Given the description of an element on the screen output the (x, y) to click on. 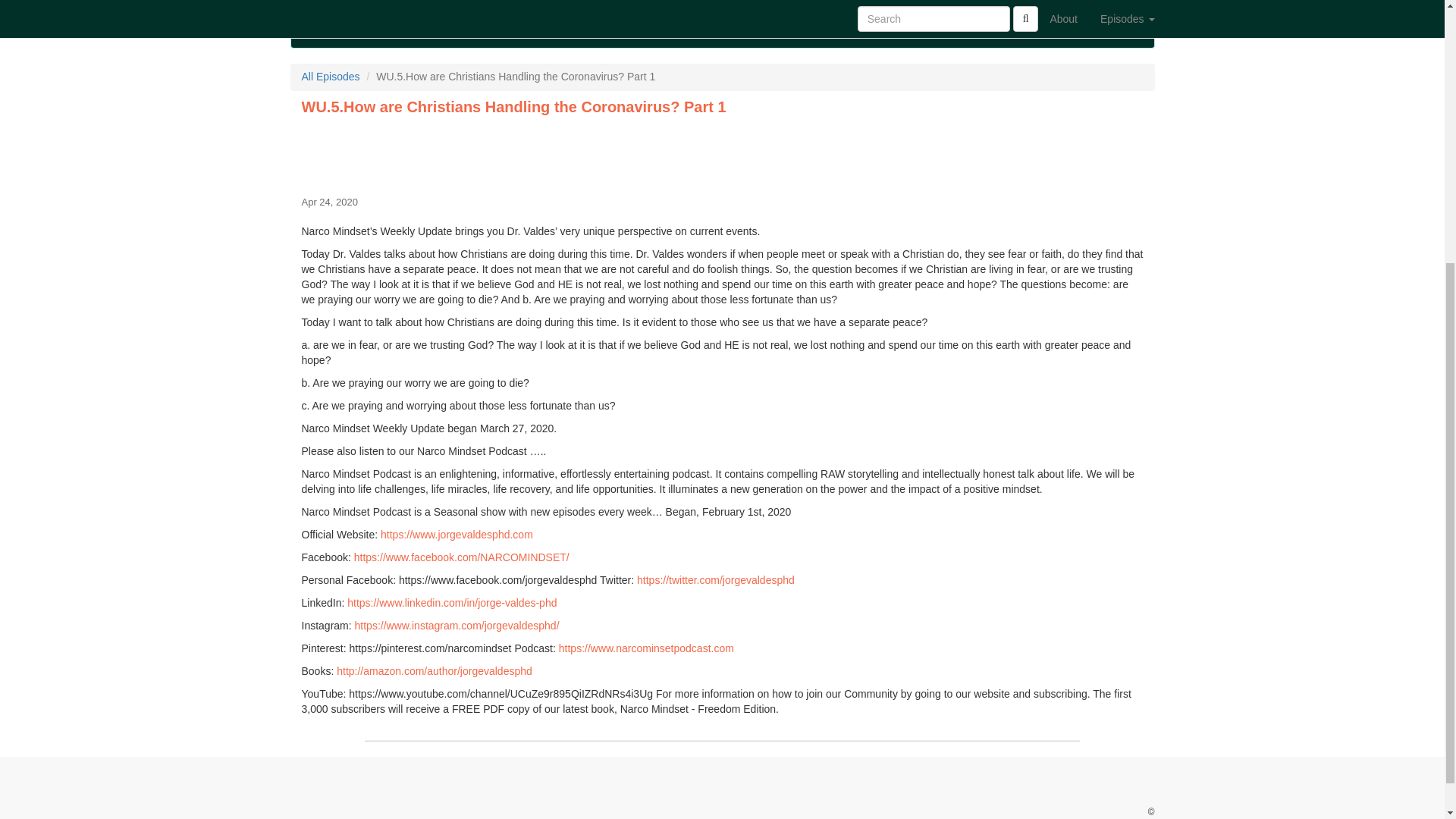
Visit Us on Twitter (523, 14)
Subscribe to RSS Feed (633, 14)
Listen on Stitcher (791, 14)
Go To YouTube Channel (882, 14)
Listen on Apple Podcasts (671, 14)
Listen on Radio Public (949, 14)
Visit Us on Facebook (485, 14)
WU.5.How are Christians Handling the Coronavirus? Part 1 (721, 152)
Listen on Spotify (846, 14)
Listen on TuneIn (724, 14)
